Given the description of an element on the screen output the (x, y) to click on. 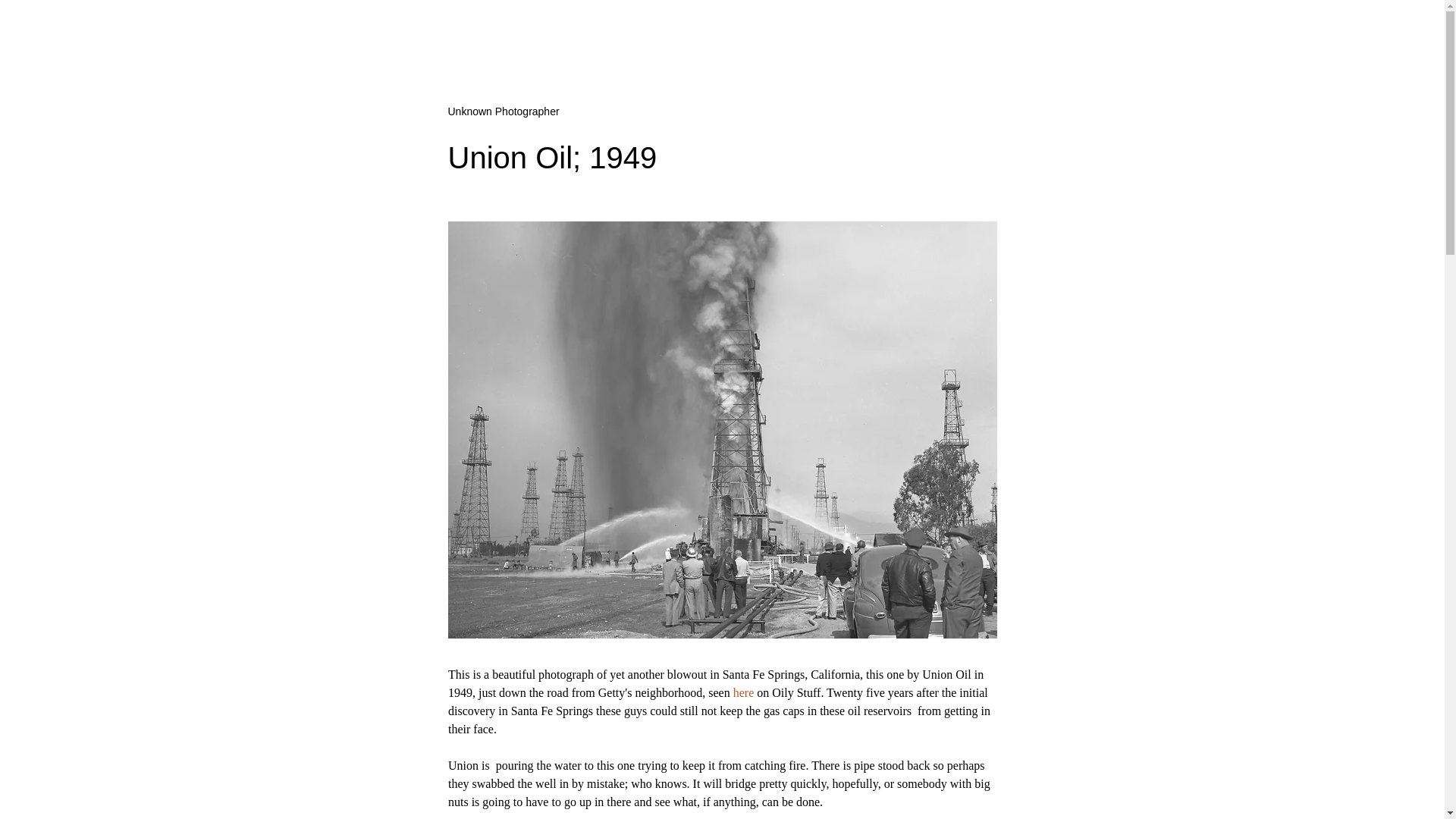
Unknown Photographer (502, 110)
Unknown Photographer (502, 110)
here (743, 692)
